Given the description of an element on the screen output the (x, y) to click on. 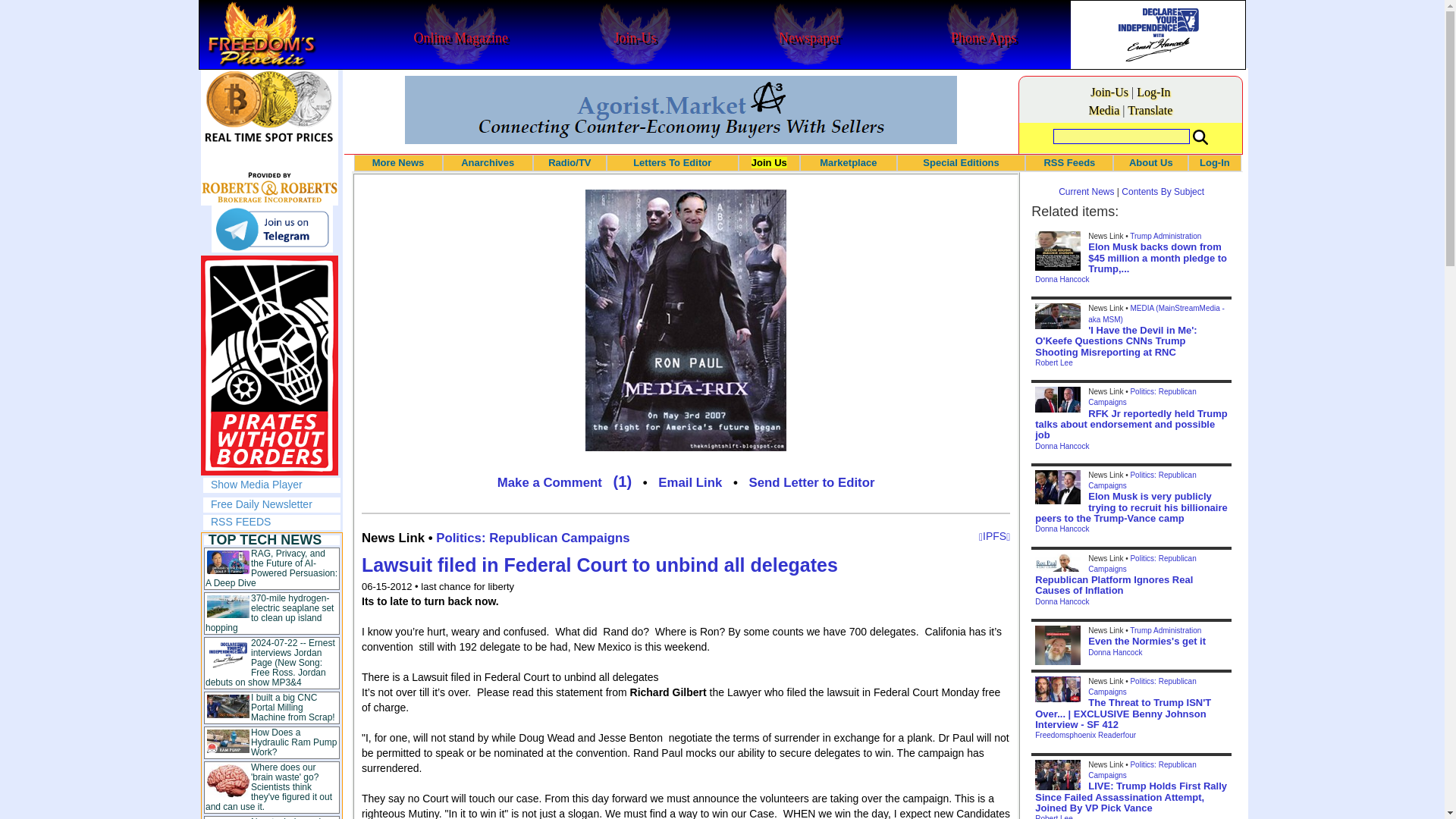
Declare Your Independence on Telegram (271, 229)
I built a big CNC Portal Milling Machine from Scrap! (292, 707)
TOP TECH NEWS (264, 539)
RSS FEEDS (240, 521)
How Does a Hydraulic Ram Pump Work? (293, 742)
Show Media Player (256, 484)
Free Daily Newsletter (262, 503)
